Given the description of an element on the screen output the (x, y) to click on. 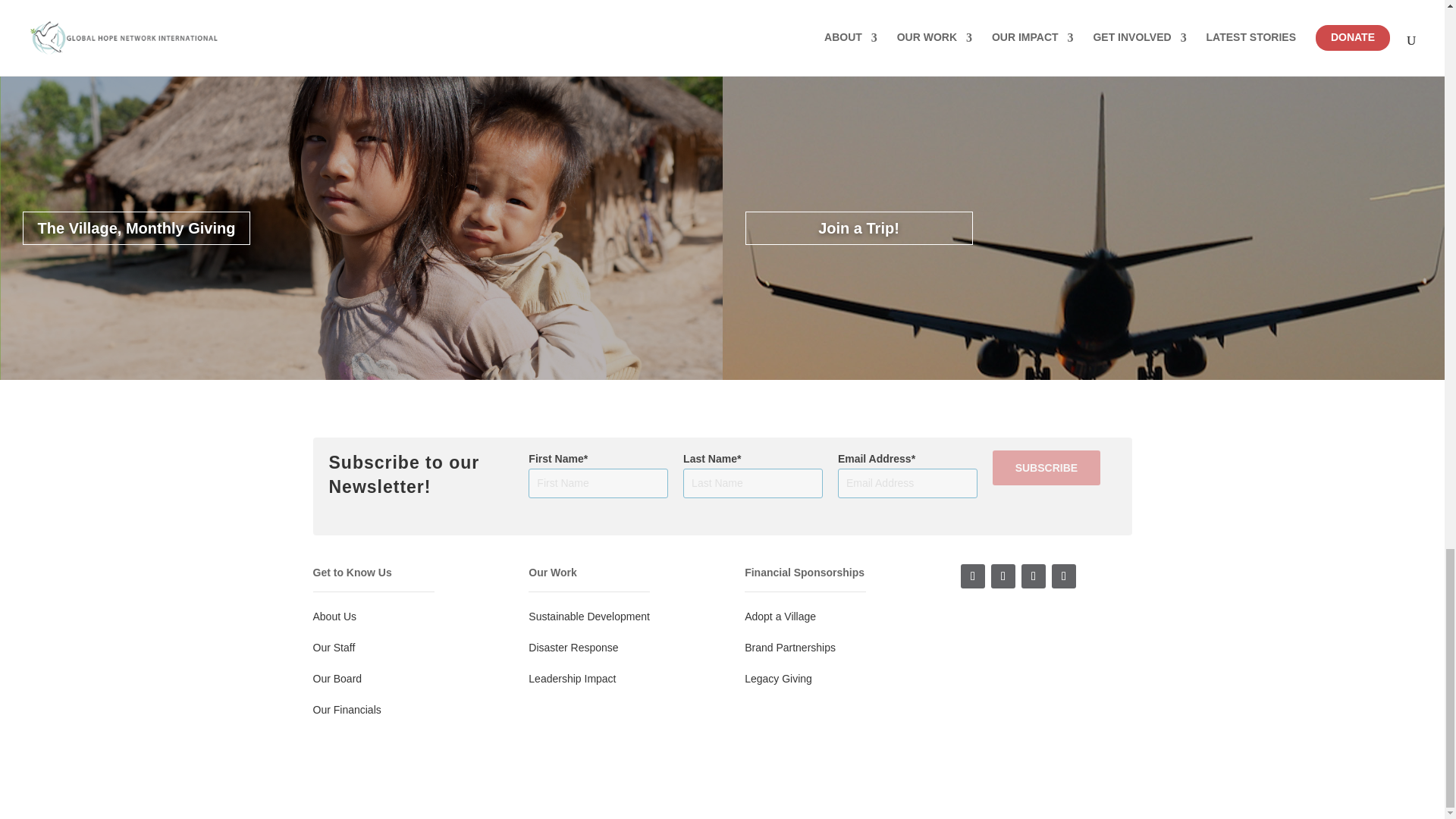
Follow on Vimeo (1063, 576)
Follow on Instagram (1002, 576)
Follow on Facebook (972, 576)
Follow on X (1033, 576)
